Given the description of an element on the screen output the (x, y) to click on. 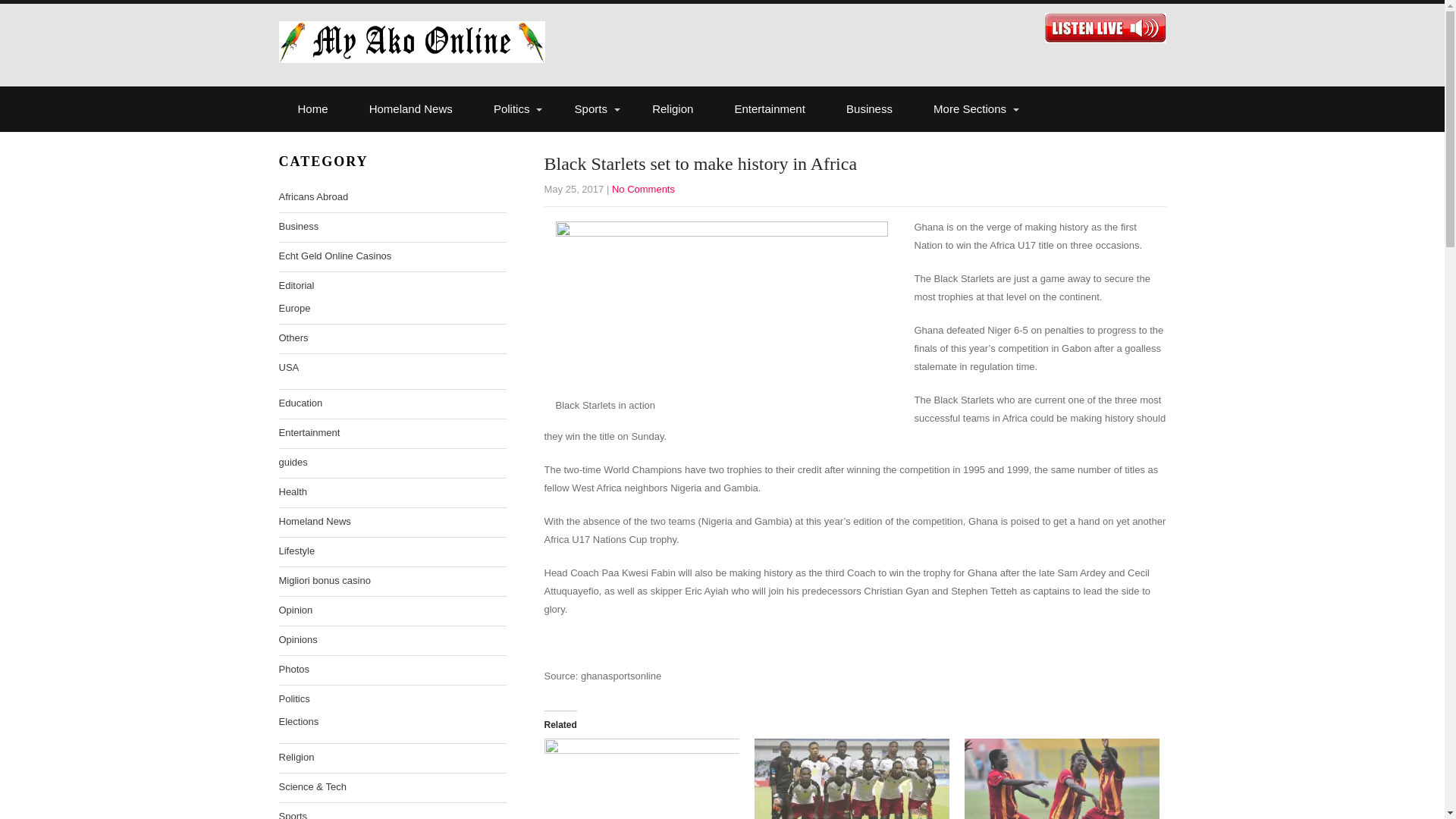
More Sections (971, 108)
Religion (672, 108)
Sports (593, 108)
Business (869, 108)
Africans Abroad (314, 197)
Home (313, 108)
Entertainment (770, 108)
Ghana wallop Cameroon 4-0 in Afcon U-17 opener (641, 778)
Business (298, 226)
Homeland News (410, 108)
Politics (513, 108)
No Comments (643, 188)
